Given the description of an element on the screen output the (x, y) to click on. 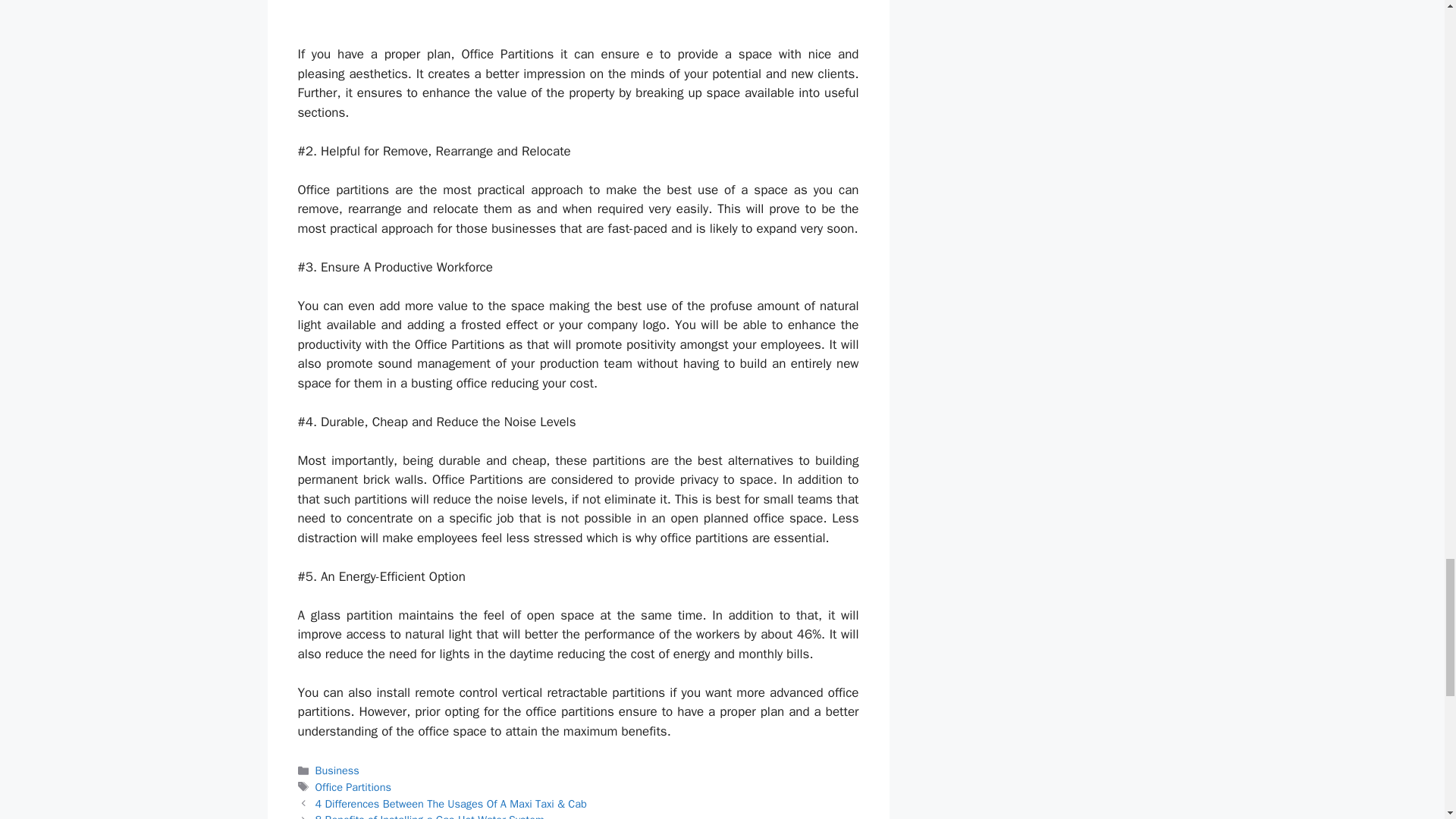
Business (337, 770)
Office Partitions (353, 786)
8 Benefits of Installing a Gas Hot Water System (429, 816)
